Given the description of an element on the screen output the (x, y) to click on. 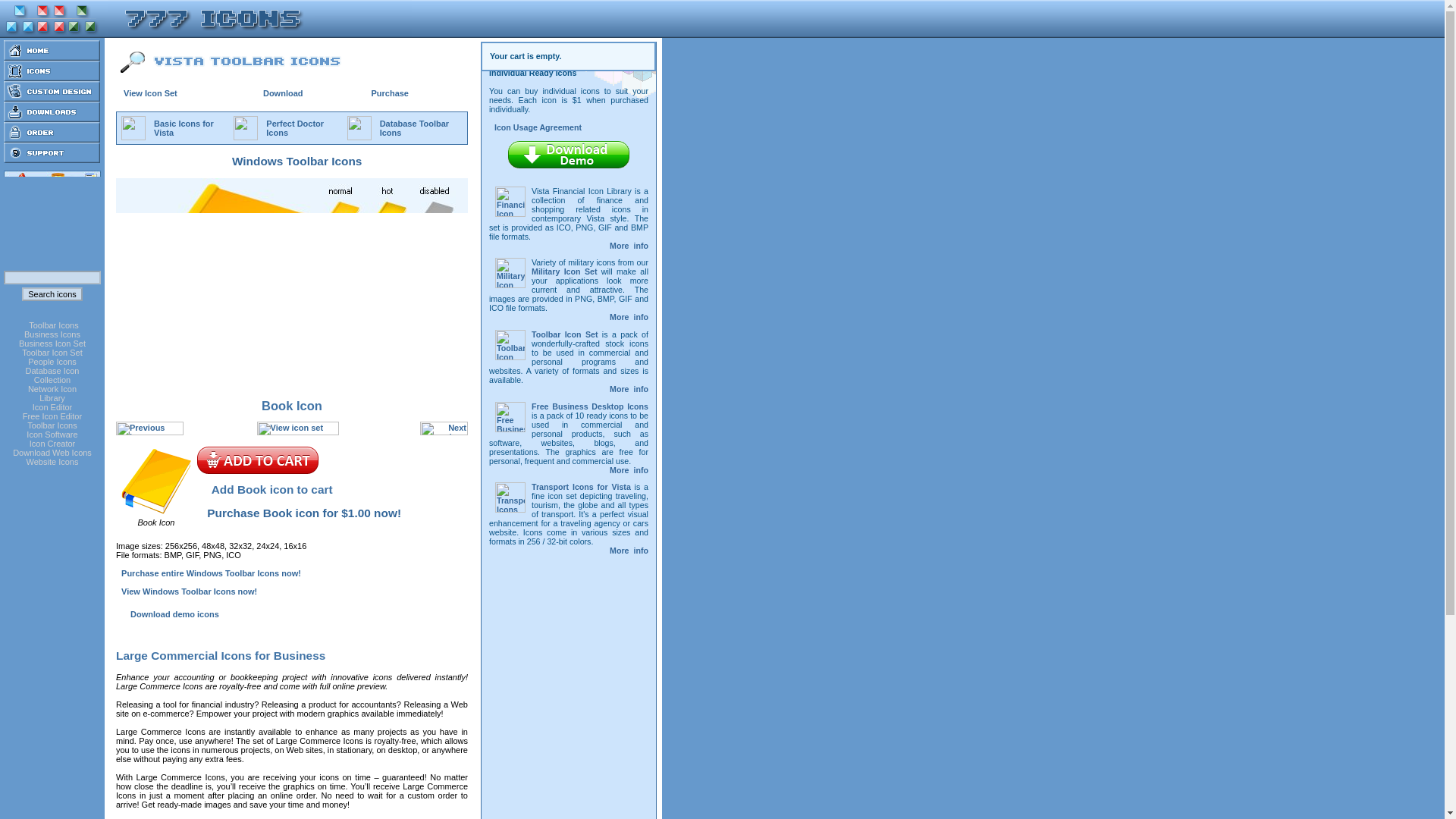
Free Icon Editor (52, 415)
Purchase entire Windows Toolbar Icons now! (210, 573)
Toolbar Icons (53, 325)
Download Web Icons (52, 452)
Toolbar Icons (52, 424)
Website Icons (52, 461)
View Icons (298, 427)
Add Book icon to cart (257, 460)
View Icon Set (150, 92)
 Download demo icons (167, 614)
